Given the description of an element on the screen output the (x, y) to click on. 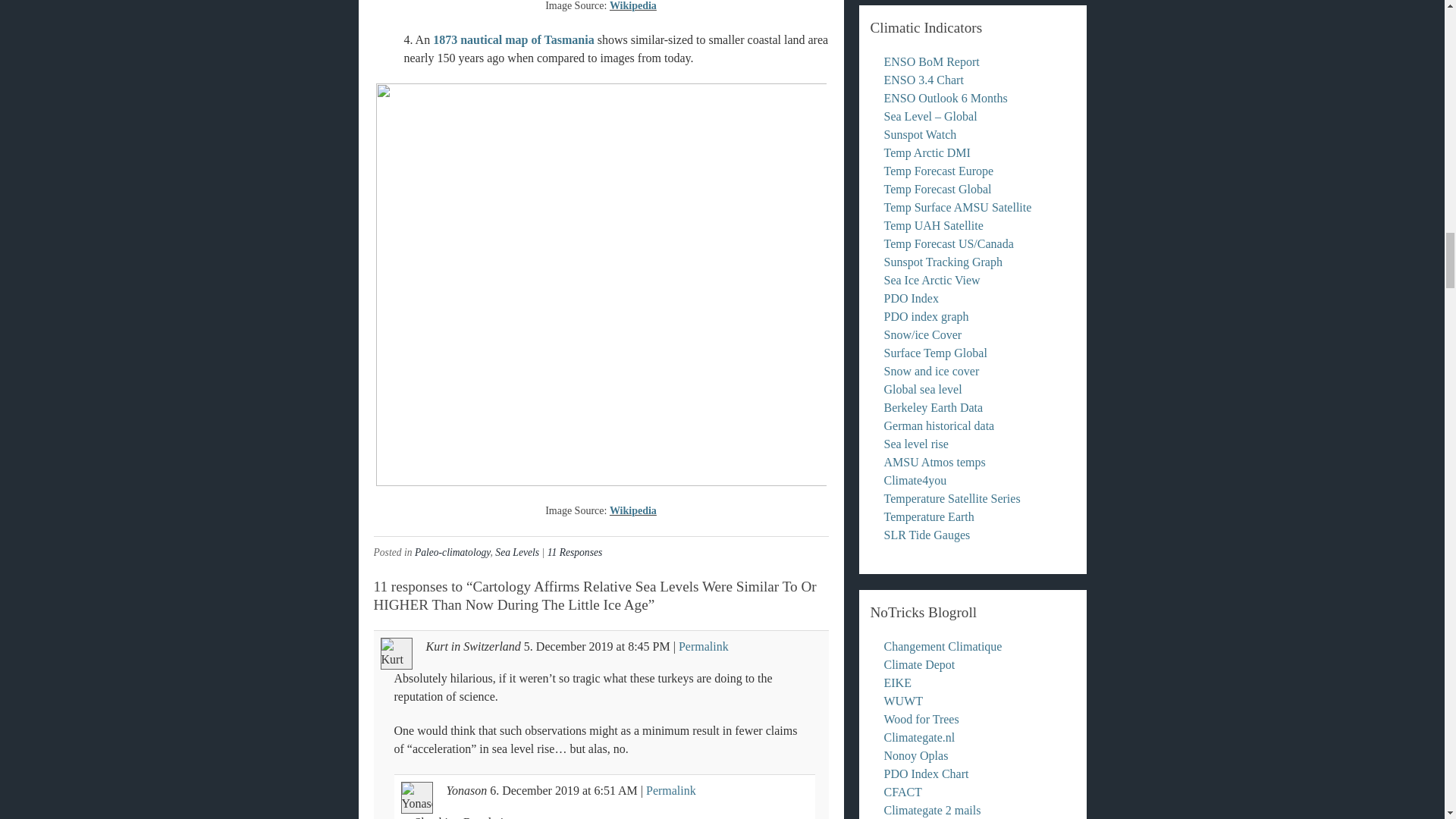
Wikipedia (633, 5)
Friday, December 6th, 2019, 6:51 am (615, 789)
Thursday, December 5th, 2019, 8:45 pm (648, 645)
Sea Levels (516, 552)
1873 nautical map of Tasmania (513, 39)
Wikipedia (633, 510)
11 Responses (574, 552)
Thursday, December 5th, 2019, 8:45 pm (568, 645)
Paleo-climatology (452, 552)
